Given the description of an element on the screen output the (x, y) to click on. 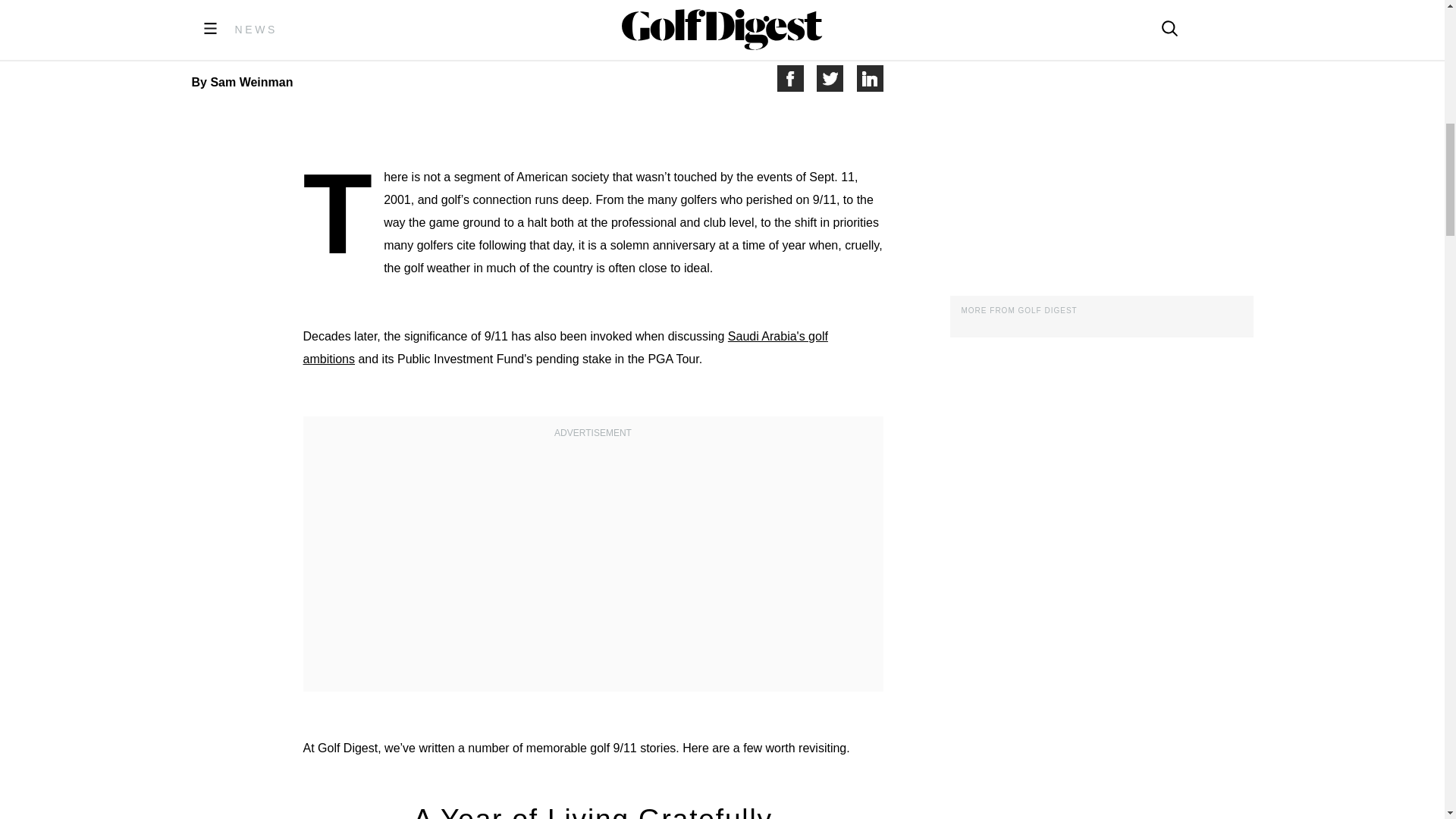
Share on Twitter (836, 78)
Share on Facebook (796, 78)
Share on LinkedIn (870, 78)
